Given the description of an element on the screen output the (x, y) to click on. 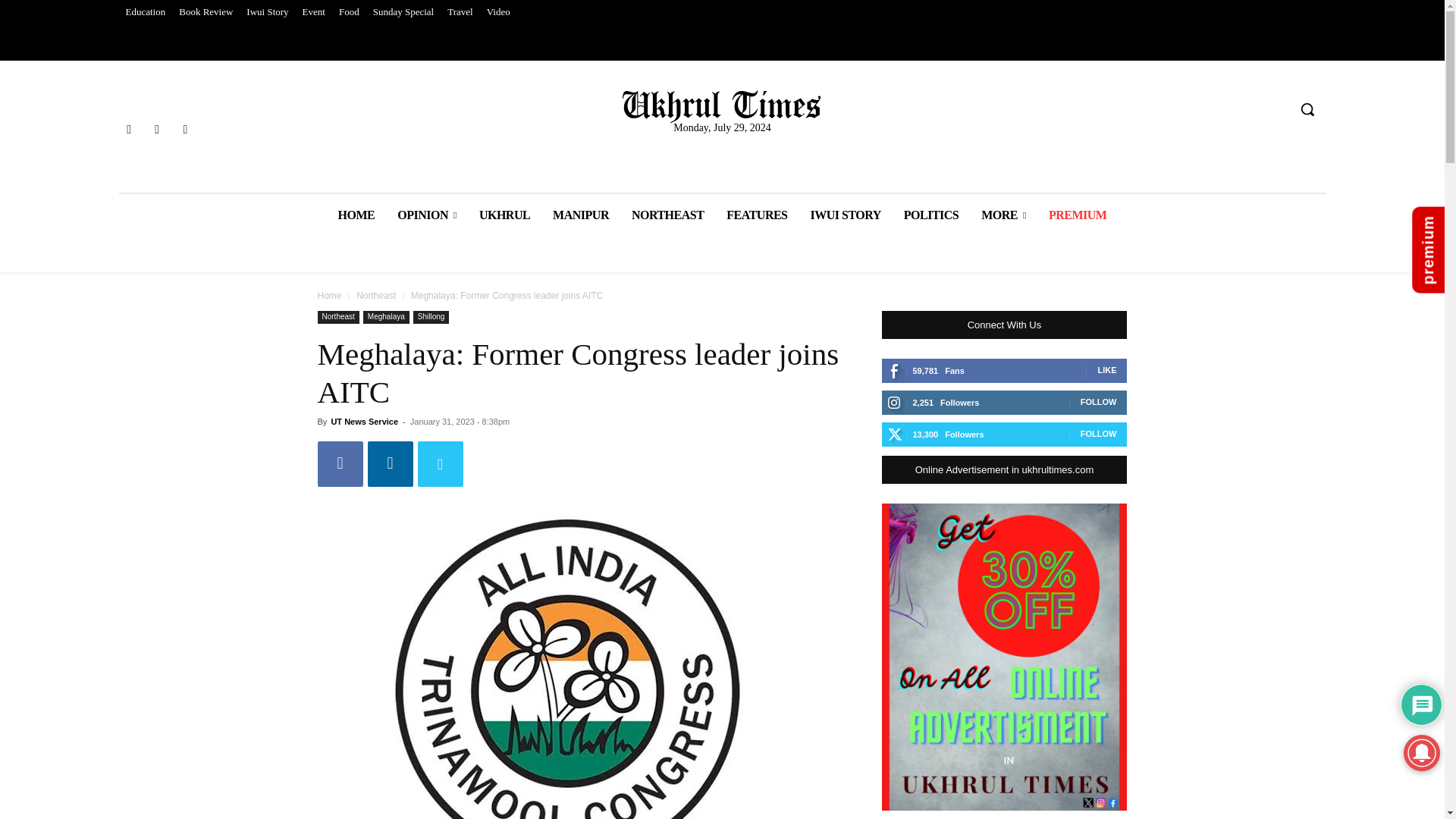
Video (498, 12)
OPINION (426, 214)
Book Review (205, 12)
Facebook (339, 463)
Iwui Story (267, 12)
Education (144, 12)
Event (313, 12)
Facebook (127, 128)
Instagram (157, 128)
Food (348, 12)
Twitter (439, 463)
HOME (356, 214)
Sunday Special (403, 12)
View all posts in Northeast (376, 295)
